Given the description of an element on the screen output the (x, y) to click on. 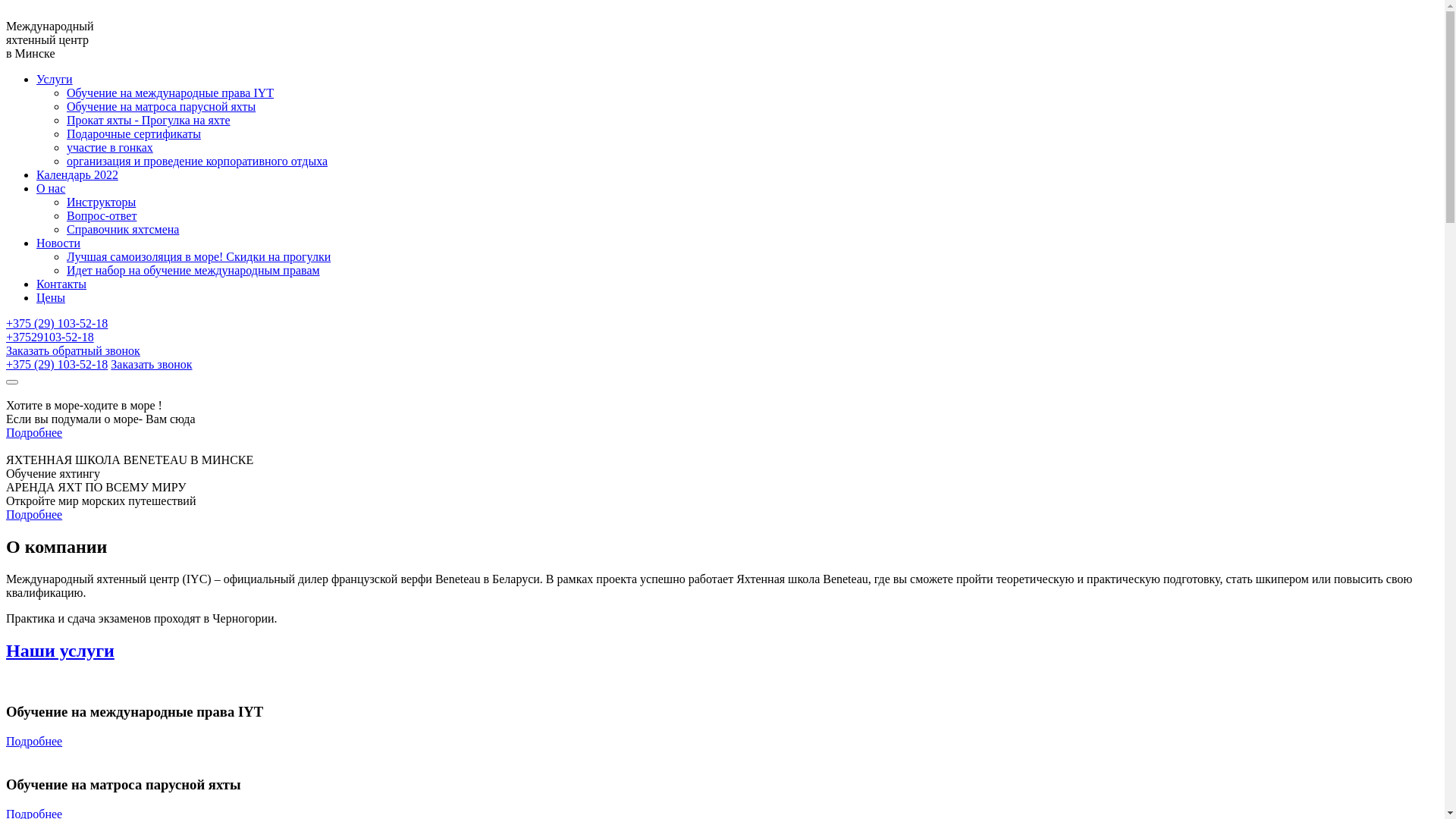
+375 (29) 103-52-18 Element type: text (56, 322)
+37529103-52-18 Element type: text (50, 336)
+375 (29) 103-52-18 Element type: text (56, 363)
